Given the description of an element on the screen output the (x, y) to click on. 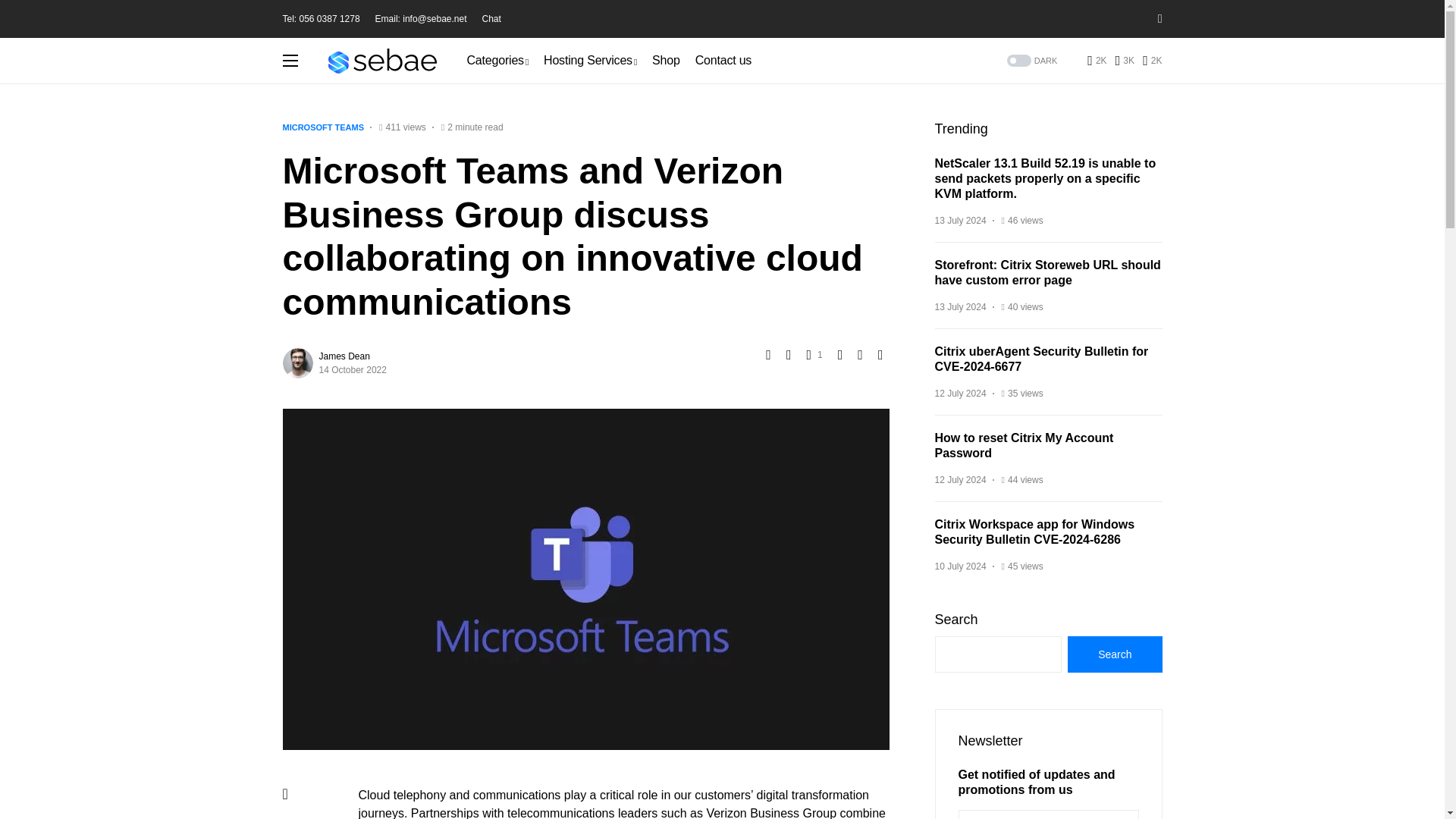
Categories (498, 60)
Tel: 056 0387 1278 (320, 18)
Chat (490, 18)
